Given the description of an element on the screen output the (x, y) to click on. 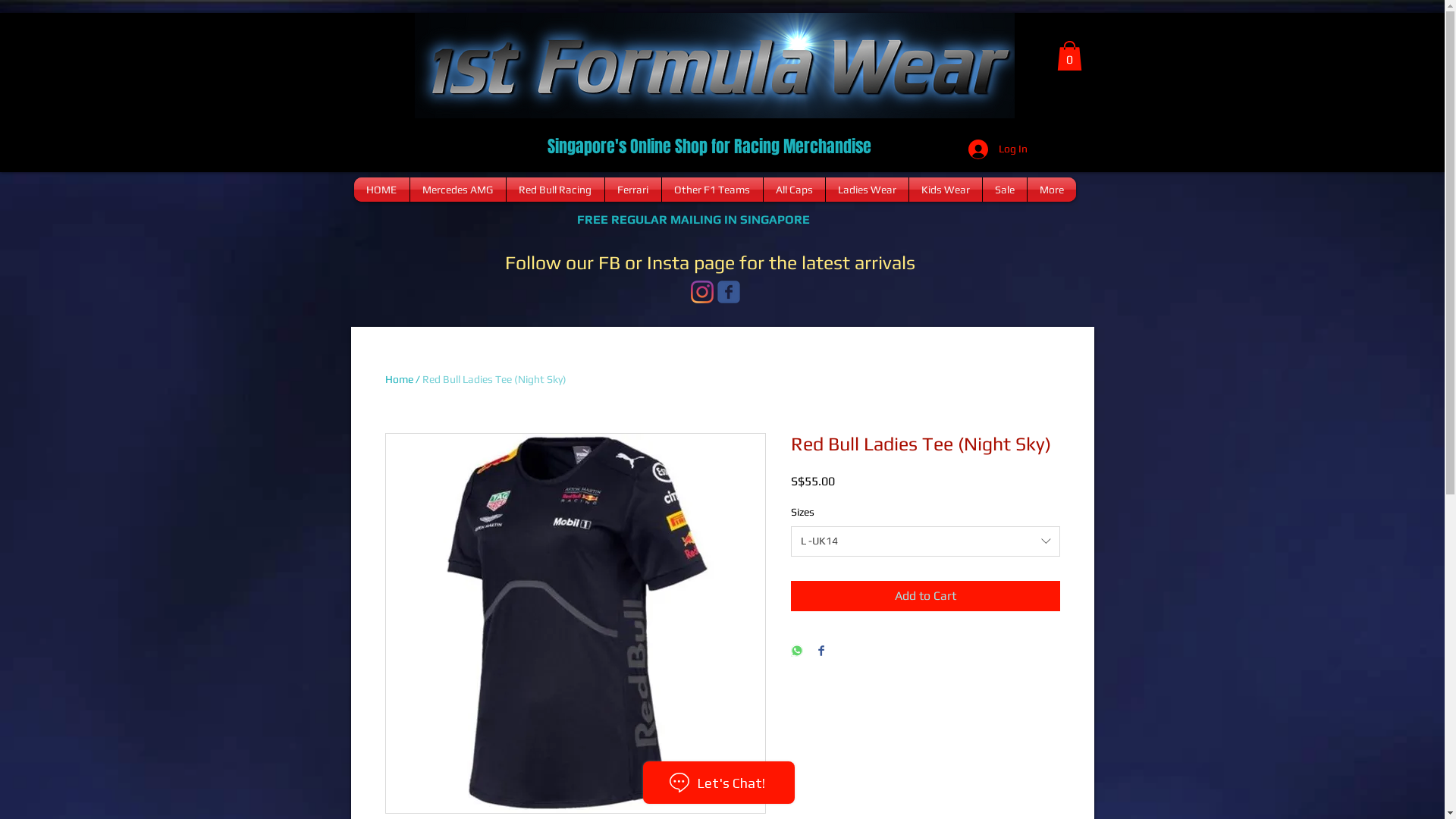
Kids Wear Element type: text (944, 189)
0 Element type: text (1069, 55)
Log In Element type: text (997, 148)
Home Element type: text (399, 379)
Mercedes AMG Element type: text (457, 189)
Sale Element type: text (1004, 189)
Embedded Content Element type: hover (388, 281)
Ladies Wear Element type: text (866, 189)
Ferrari Element type: text (633, 189)
Other F1 Teams Element type: text (711, 189)
Add to Cart Element type: text (924, 595)
HOME Element type: text (380, 189)
Red Bull Racing Element type: text (555, 189)
L -UK14 Element type: text (924, 541)
All Caps Element type: text (793, 189)
Red Bull Ladies Tee (Night Sky) Element type: text (493, 379)
